Given the description of an element on the screen output the (x, y) to click on. 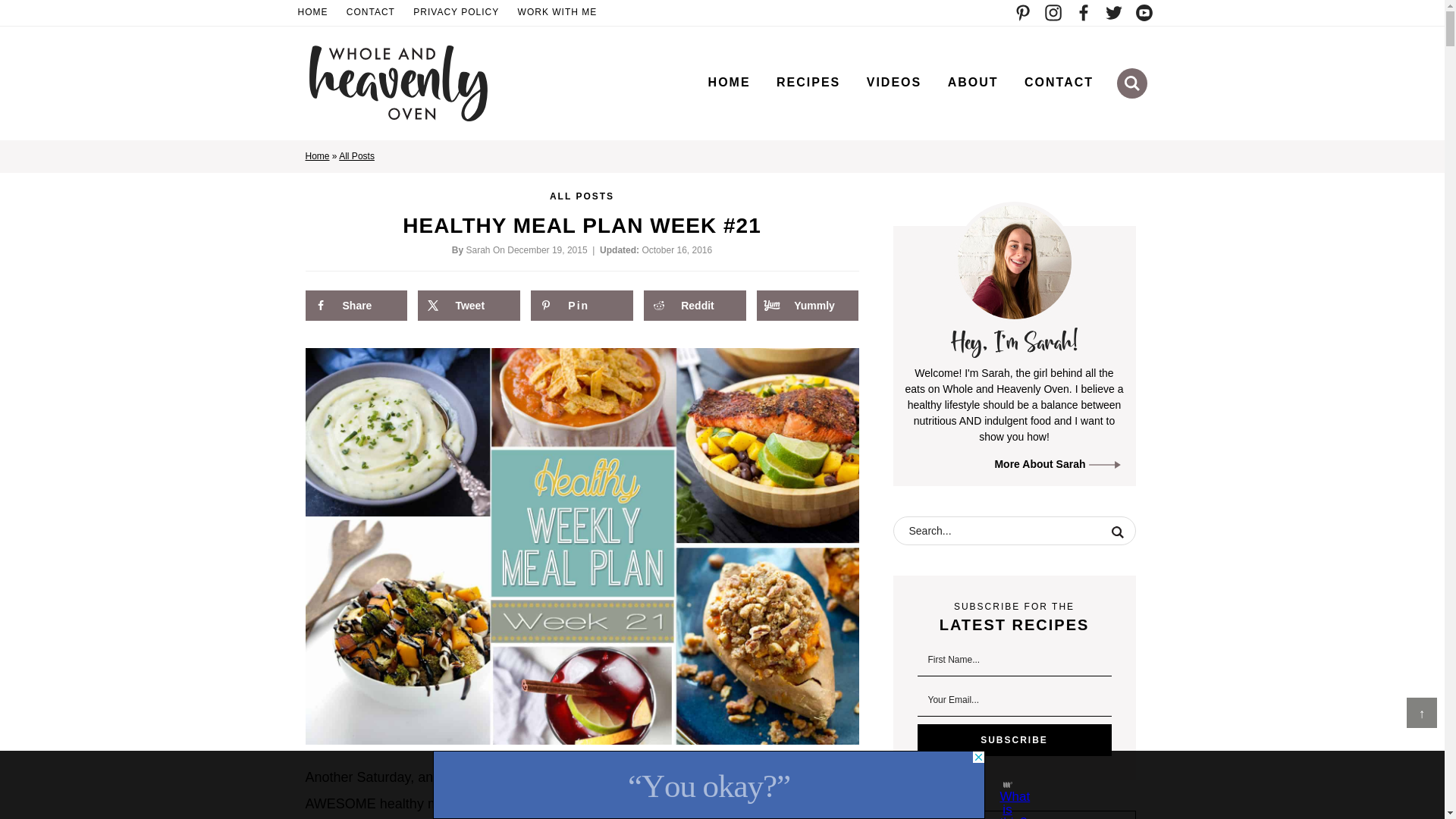
Subscribe (1014, 739)
Share on X (468, 305)
Share on Facebook (355, 305)
VIDEOS (893, 82)
Share on Reddit (694, 305)
RECIPES (807, 82)
Save to Pinterest (581, 305)
Home (316, 155)
CONTACT (1058, 82)
HOME (729, 82)
ABOUT (973, 82)
